Given the description of an element on the screen output the (x, y) to click on. 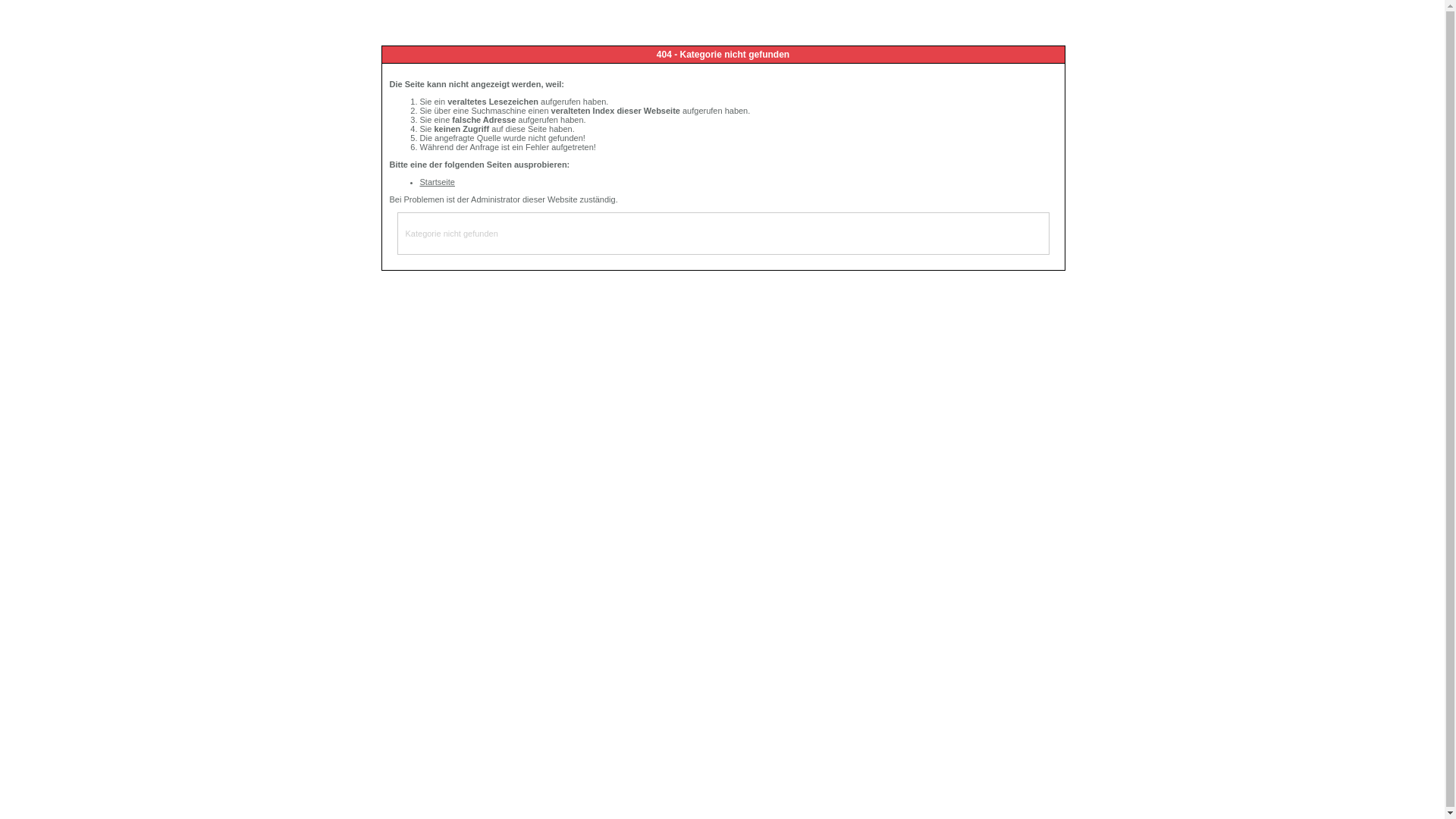
Startseite Element type: text (437, 181)
